Given the description of an element on the screen output the (x, y) to click on. 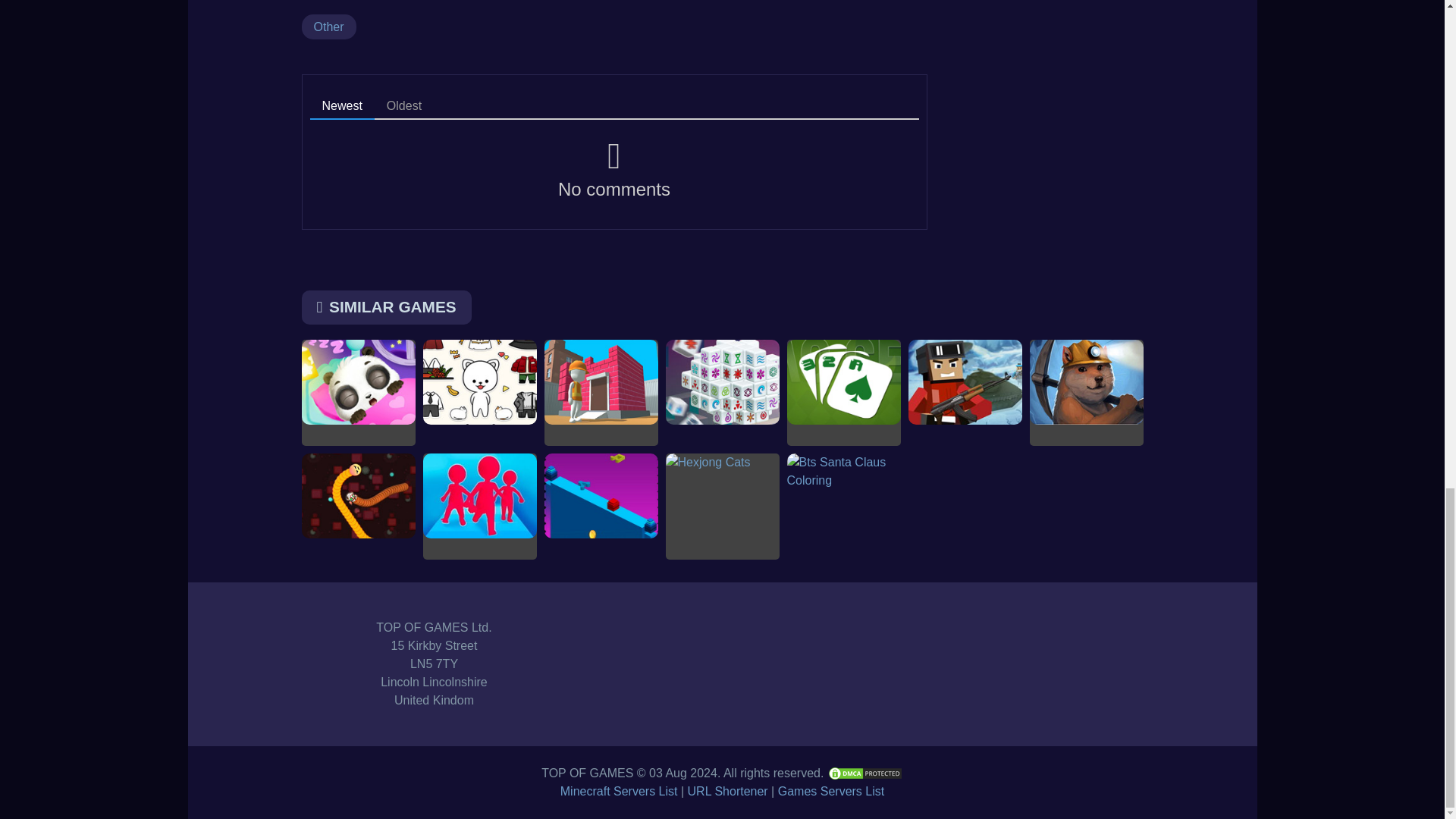
DMCA.com Protection Status (864, 772)
Free Minecraft Servers List (619, 790)
Games Servers List (830, 790)
Free URL Shortener (727, 790)
